Given the description of an element on the screen output the (x, y) to click on. 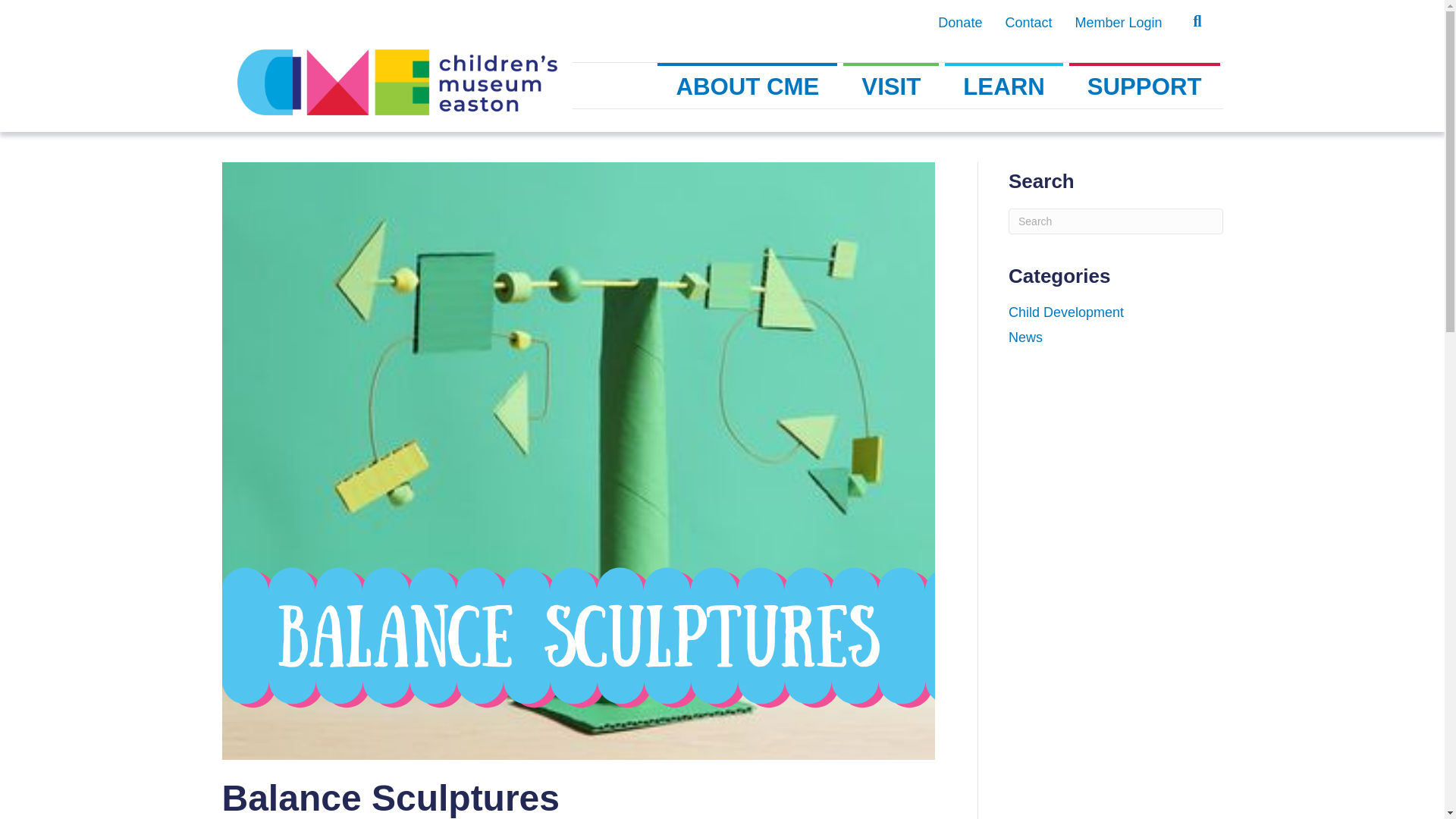
Donate (959, 22)
Child Development (1066, 312)
News (1025, 337)
Member Login (1117, 22)
ABOUT CME (747, 85)
Contact (1027, 22)
VISIT (891, 85)
LEARN (1003, 85)
Type and press Enter to search. (1116, 221)
SUPPORT (1144, 85)
